Given the description of an element on the screen output the (x, y) to click on. 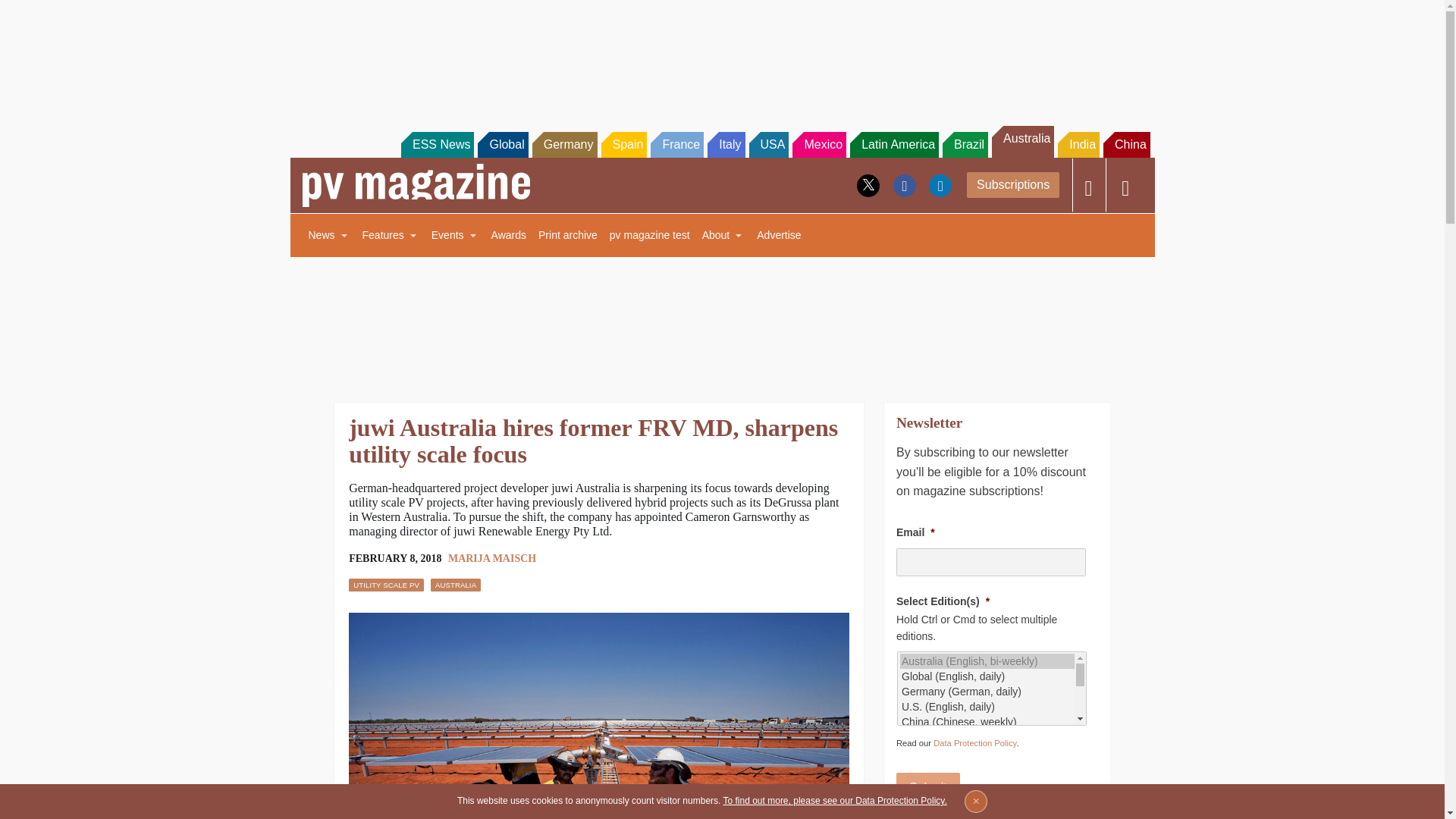
Mexico (818, 144)
Subscriptions (1012, 184)
Latin America (894, 144)
Posts by Marija Maisch (491, 558)
Spain (622, 144)
Brazil (965, 144)
China (1126, 144)
pv magazine - Photovoltaics Markets and Technology (415, 185)
Germany (564, 144)
India (1078, 144)
